Given the description of an element on the screen output the (x, y) to click on. 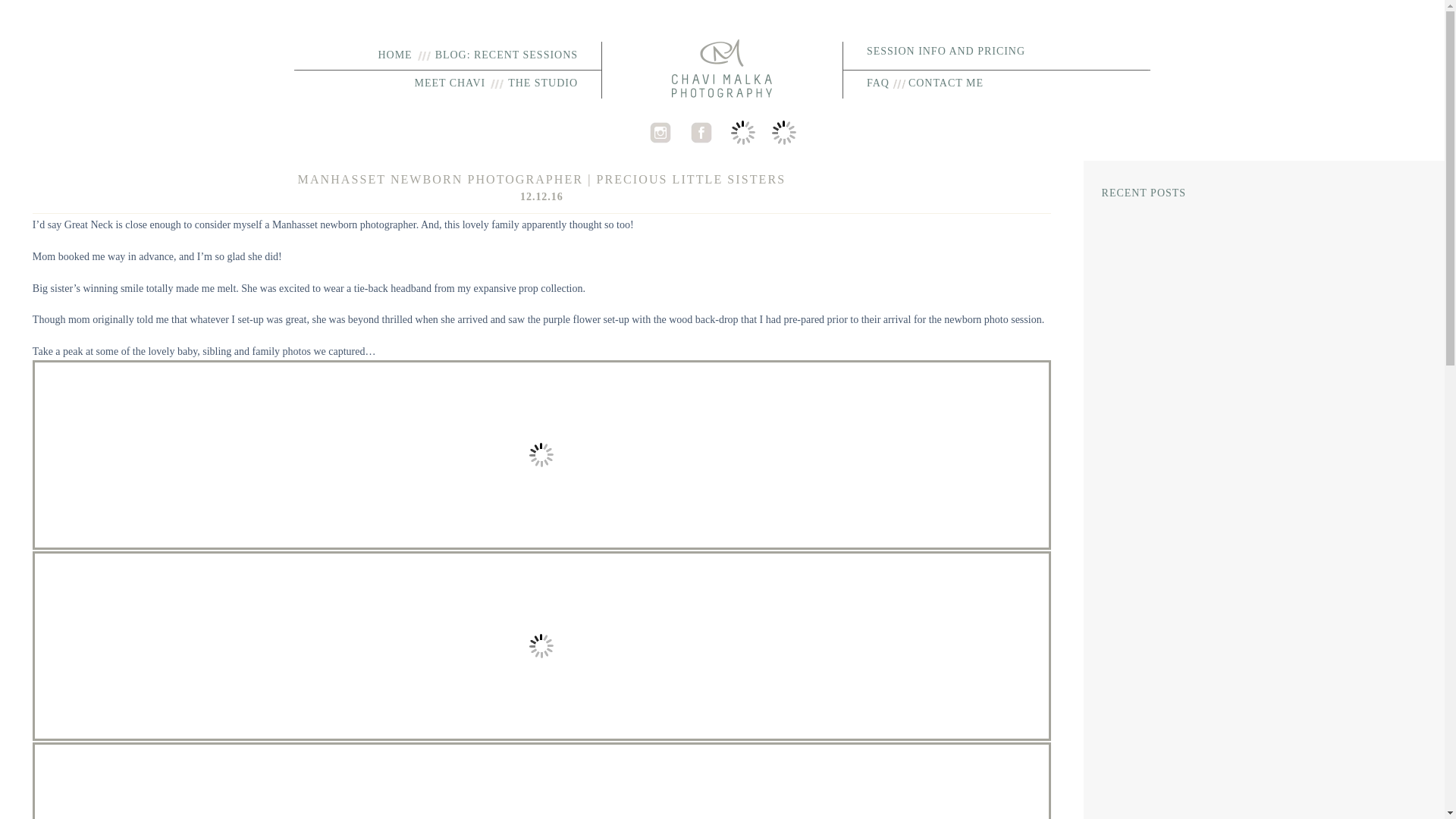
SESSION INFO AND PRICING (945, 50)
BLOG: RECENT SESSIONS (506, 54)
FAQ (877, 82)
MEET CHAVI (448, 82)
HOME (394, 54)
